Given the description of an element on the screen output the (x, y) to click on. 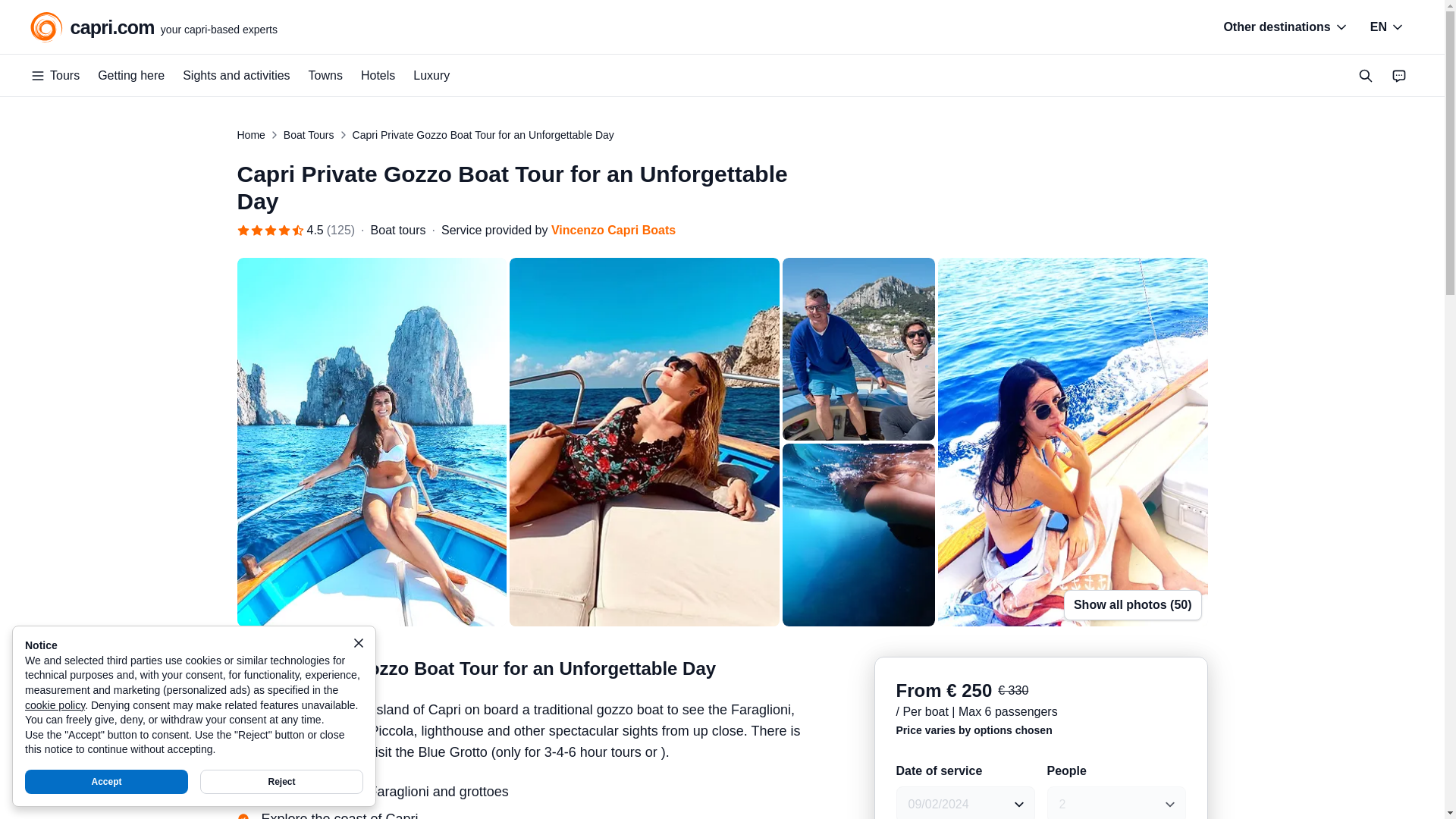
Tours (55, 75)
Getting here (130, 75)
EN (154, 27)
Other destinations (1387, 27)
Search (1285, 27)
